Given the description of an element on the screen output the (x, y) to click on. 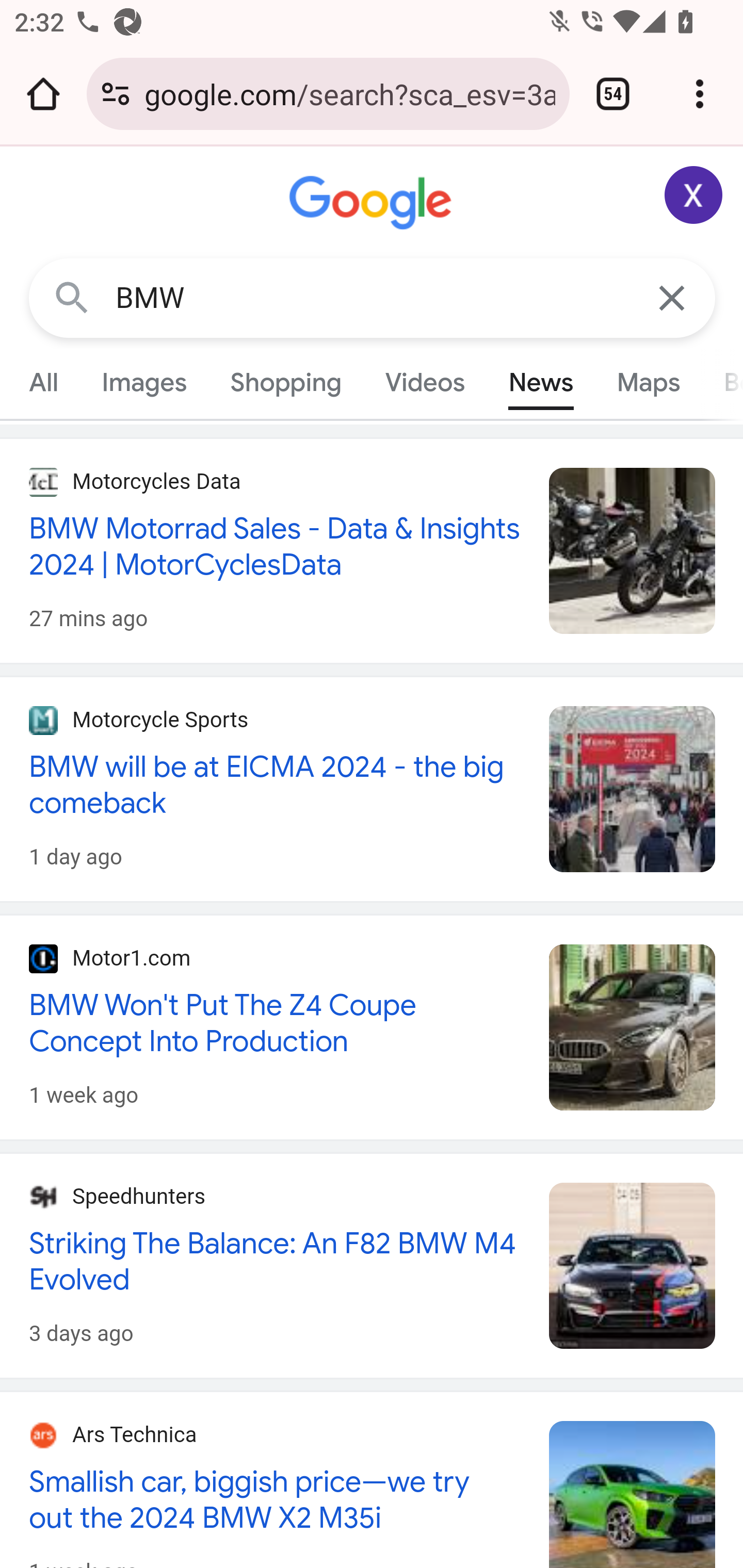
Open the home page (43, 93)
Connection is secure (115, 93)
Switch or close tabs (612, 93)
Customize and control Google Chrome (699, 93)
Google (372, 203)
Google Account: Xiaoran (zxrappiumtest@gmail.com) (694, 195)
Google Search (71, 296)
Clear Search (672, 296)
BMW (372, 297)
All (43, 382)
Images (144, 382)
Shopping (285, 382)
Videos (424, 382)
Maps (647, 382)
